Given the description of an element on the screen output the (x, y) to click on. 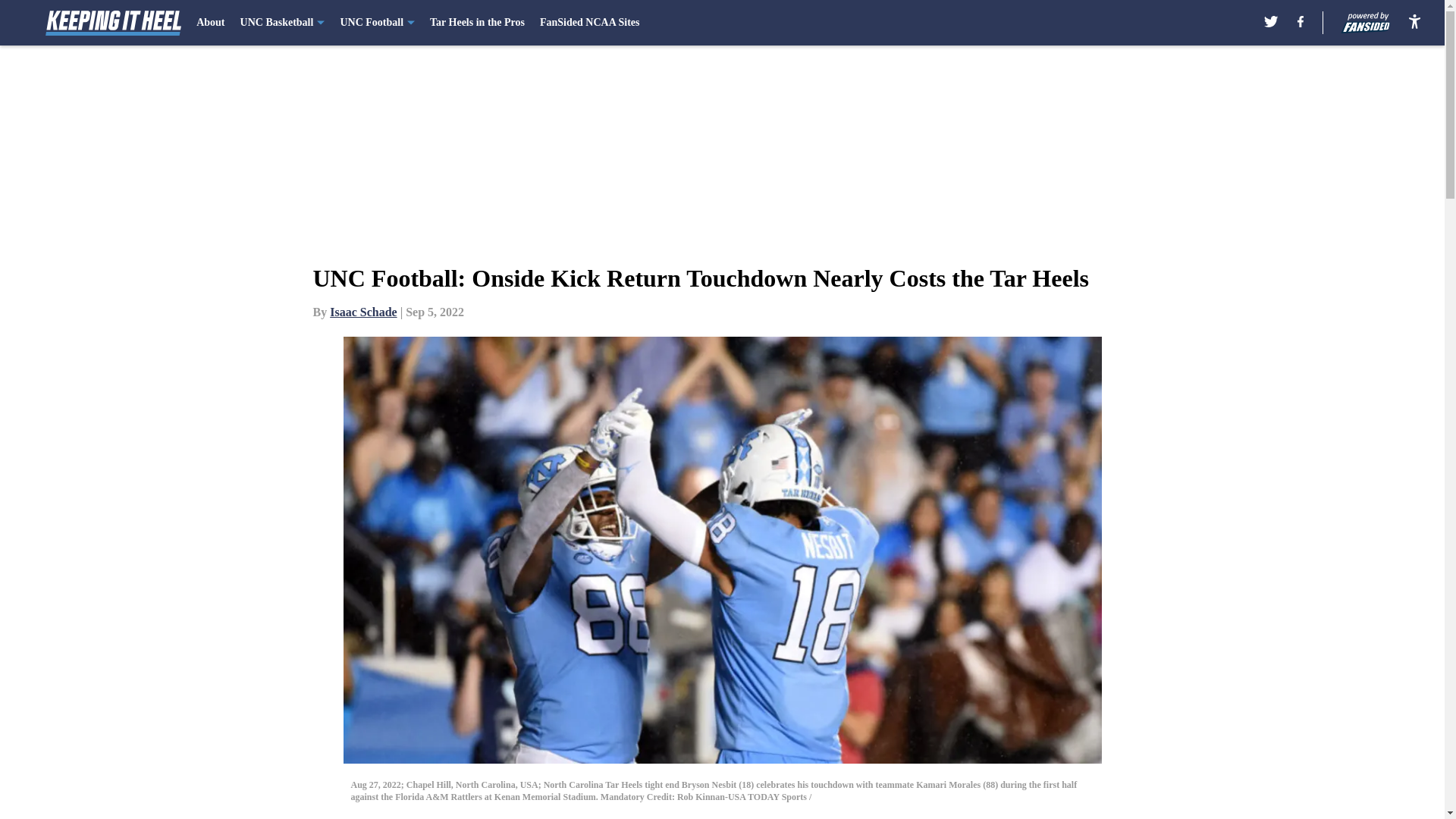
About (210, 22)
Tar Heels in the Pros (476, 22)
FanSided NCAA Sites (589, 22)
Isaac Schade (363, 311)
